Given the description of an element on the screen output the (x, y) to click on. 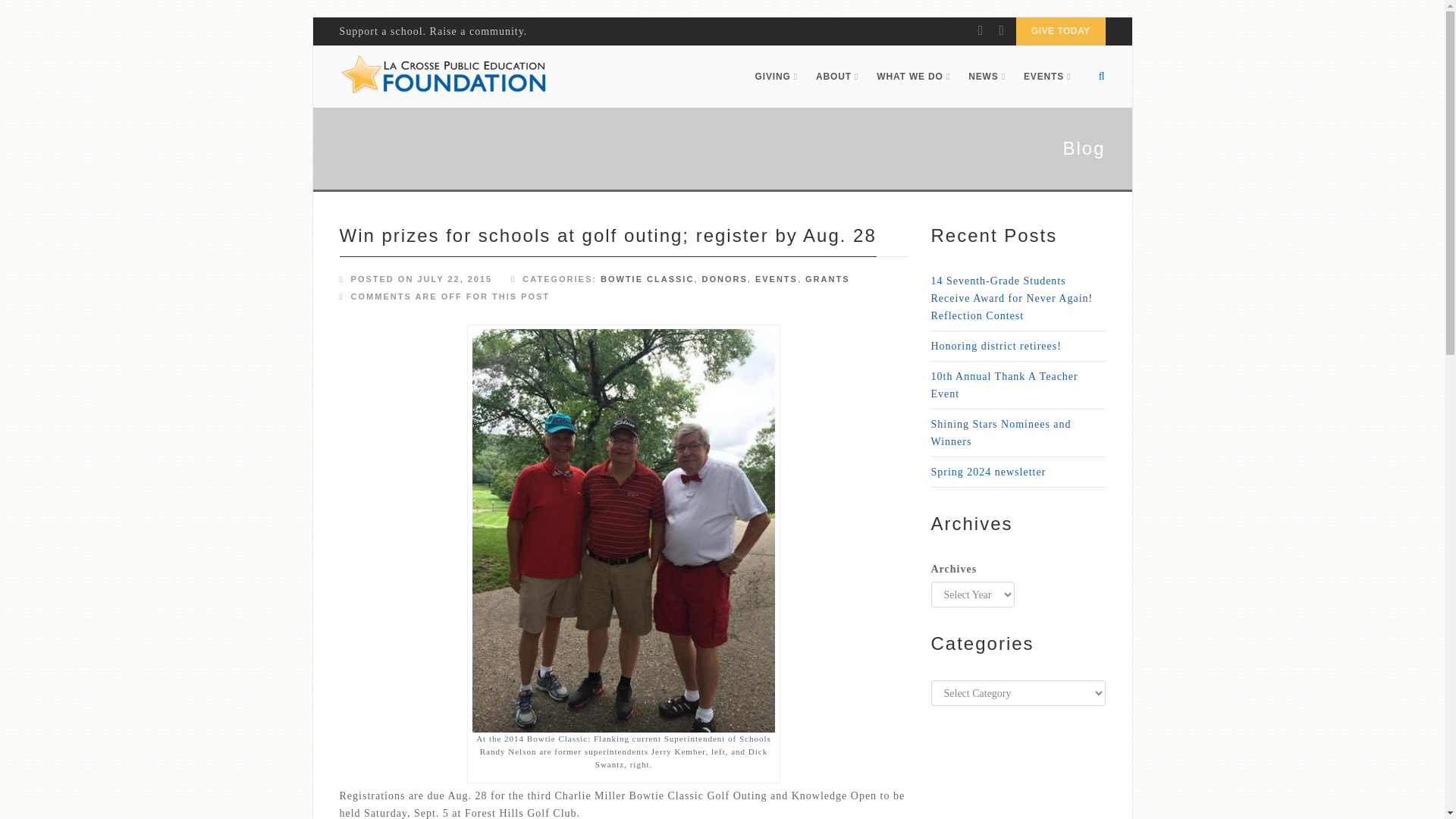
GIVE TODAY (1060, 31)
NEWS (986, 76)
ABOUT (836, 76)
La Crosse Public Education Foundation (443, 76)
GIVING (775, 76)
WHAT WE DO (913, 76)
